Given the description of an element on the screen output the (x, y) to click on. 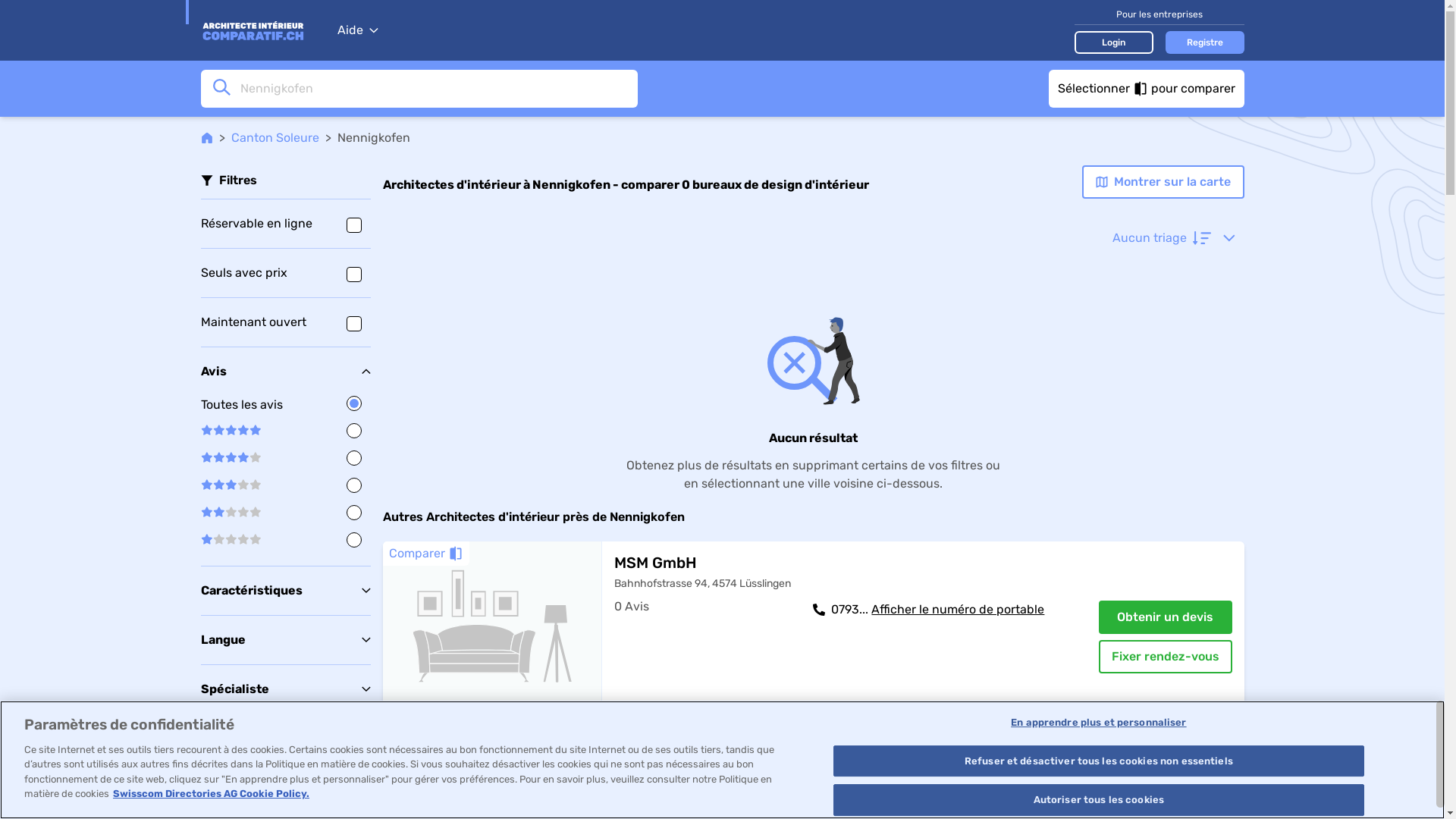
Comparer Element type: text (425, 553)
Montrer sur la carte Element type: text (1162, 181)
Login Element type: text (1112, 41)
En apprendre plus et personnaliser Element type: text (1098, 722)
Seuls avec prix Element type: text (285, 272)
Registre Element type: text (1203, 41)
Aide Element type: text (356, 30)
Fixer rendez-vous Element type: text (1164, 656)
Canton Soleure Element type: text (274, 137)
Comparer Element type: text (425, 738)
Swisscom Directories AG Cookie Policy. Element type: text (210, 793)
Aucun triage Element type: text (1172, 237)
Obtenir un devis Element type: text (1164, 616)
Autoriser tous les cookies Element type: text (1098, 799)
Maintenant ouvert Element type: text (285, 321)
